Given the description of an element on the screen output the (x, y) to click on. 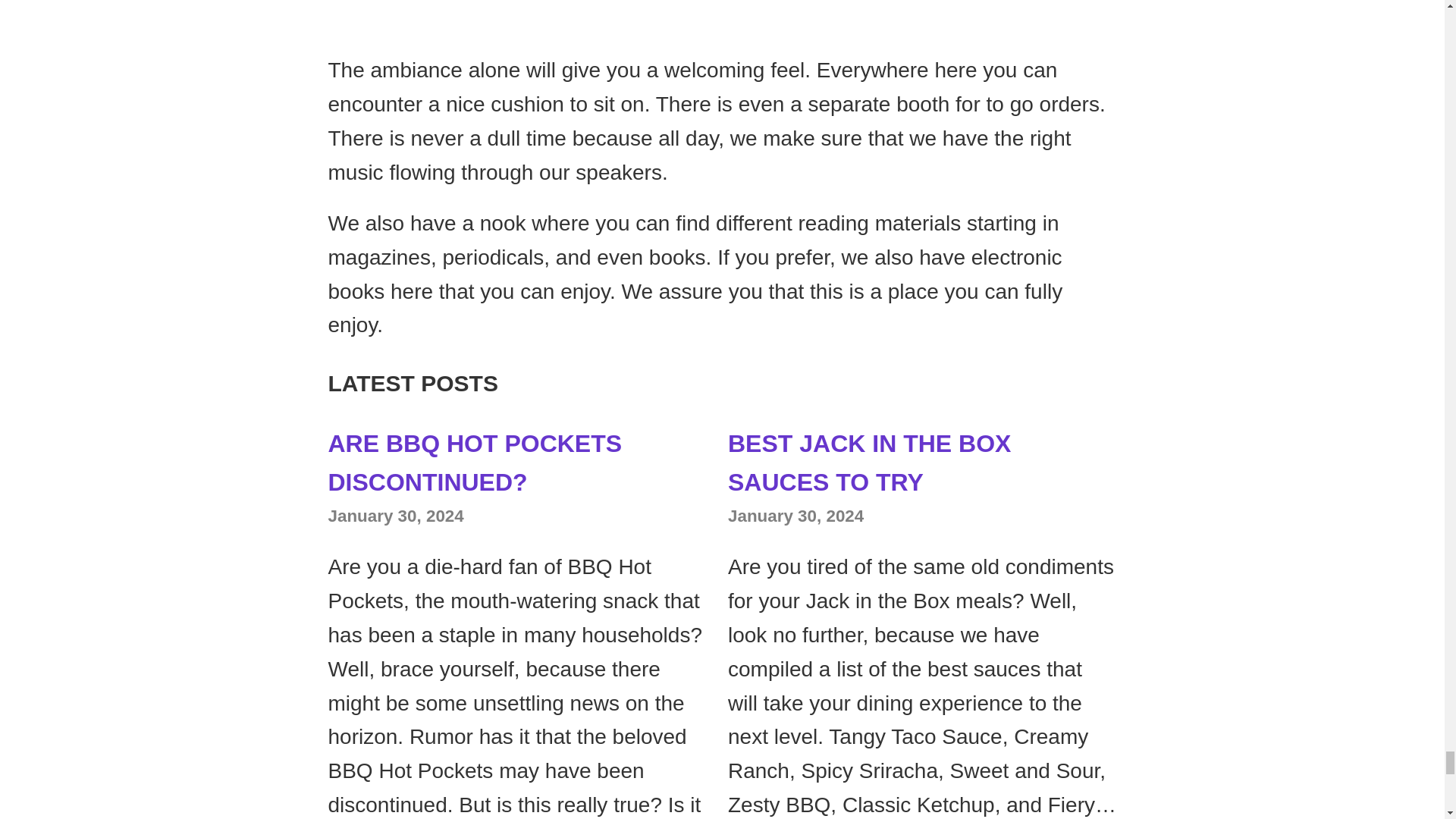
BEST JACK IN THE BOX SAUCES TO TRY (869, 462)
1:26 pm (395, 515)
January 30, 2024 (795, 515)
ARE BBQ HOT POCKETS DISCONTINUED? (474, 462)
1:26 pm (795, 515)
January 30, 2024 (395, 515)
